Given the description of an element on the screen output the (x, y) to click on. 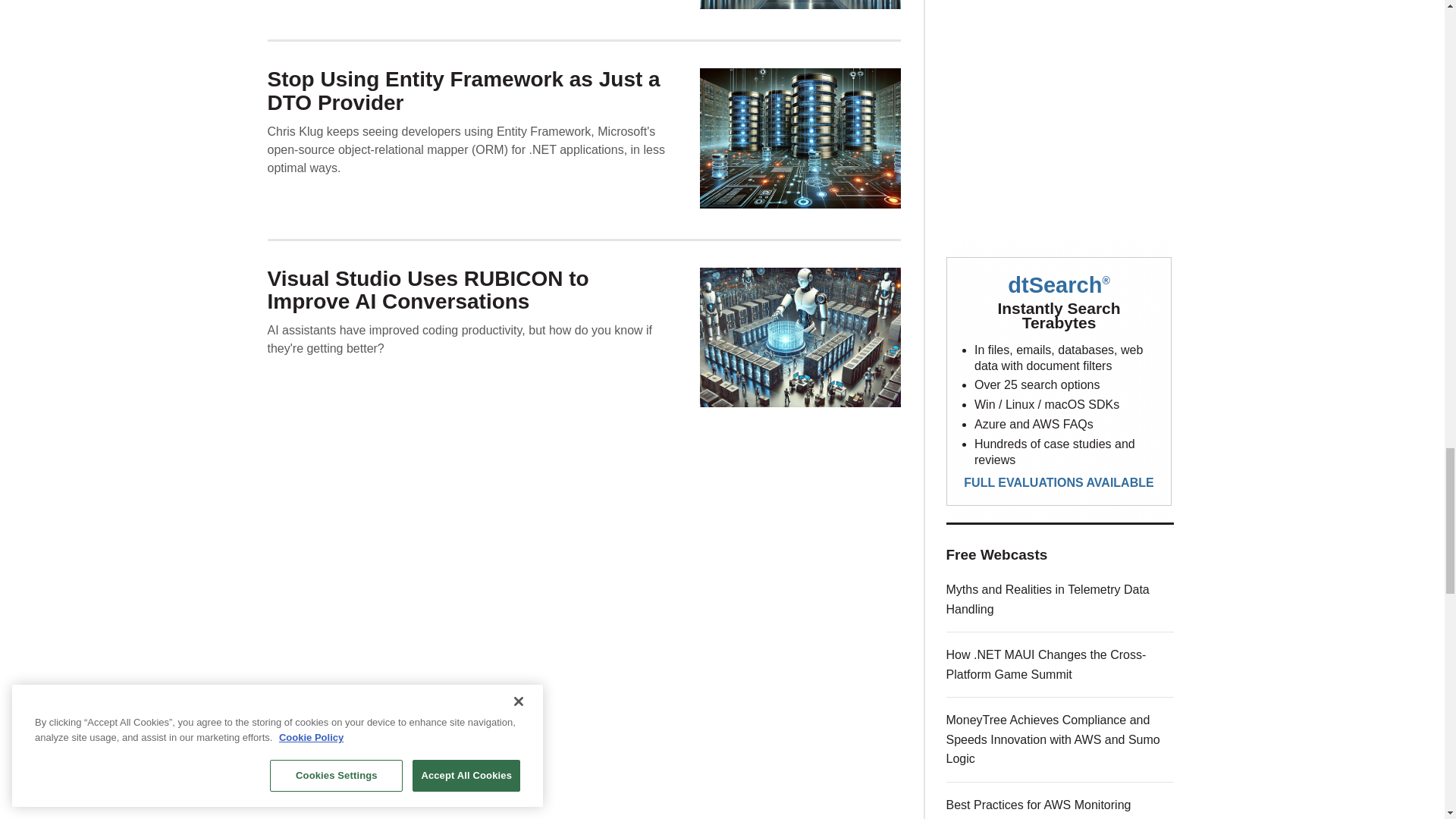
3rd party ad content (1059, 108)
